Given the description of an element on the screen output the (x, y) to click on. 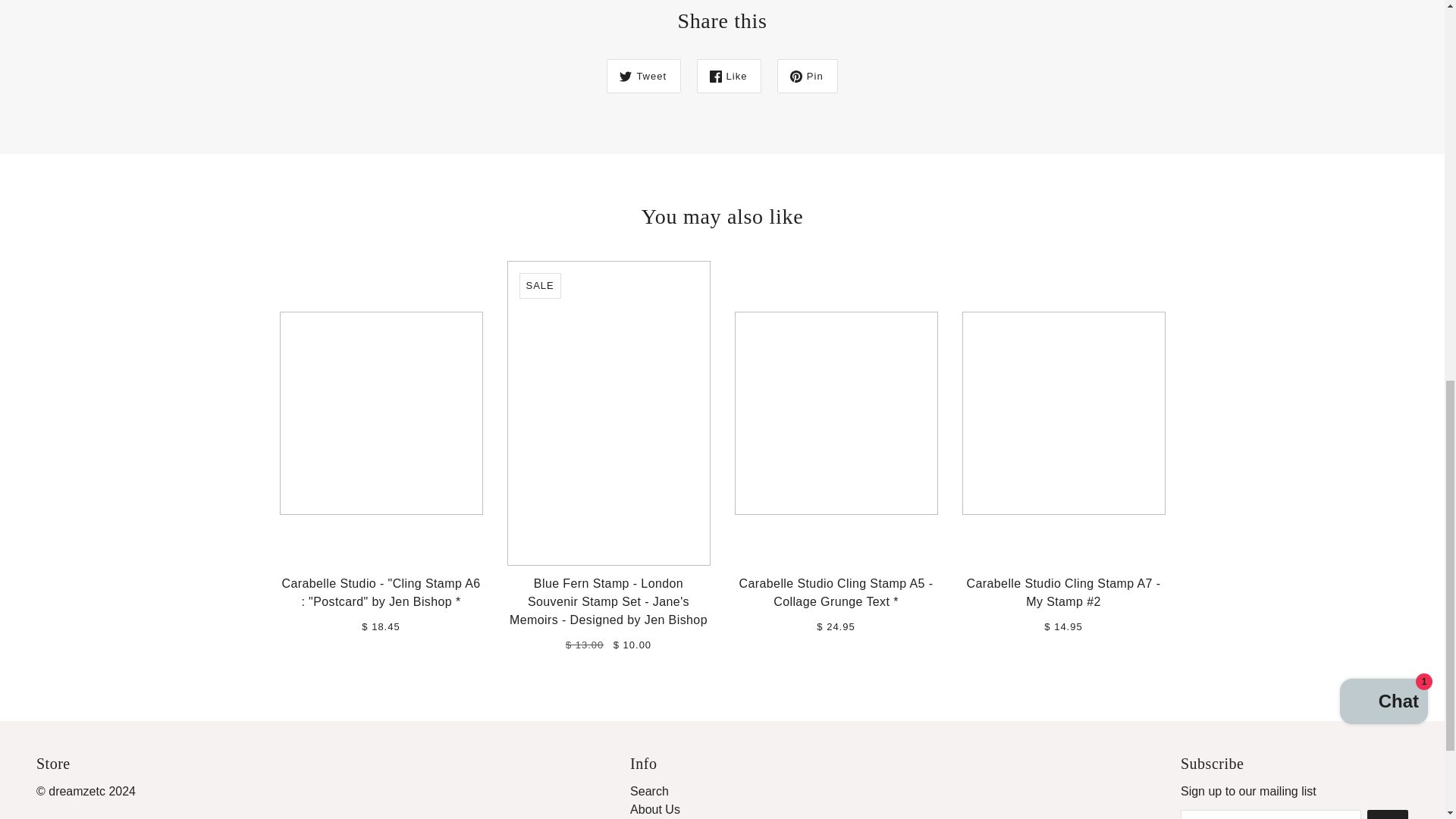
About Us (654, 809)
Search (649, 790)
